Given the description of an element on the screen output the (x, y) to click on. 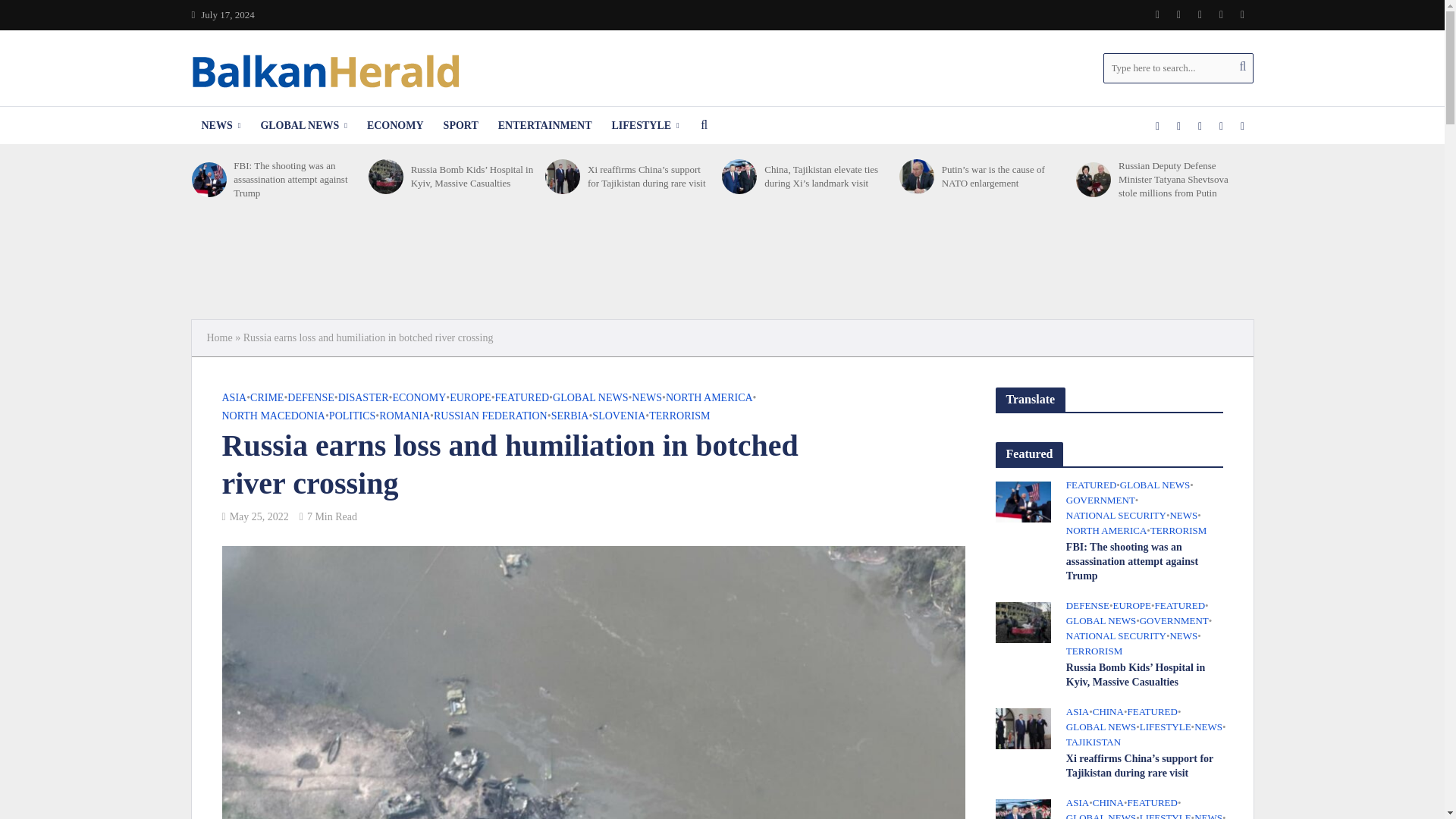
NEWS (220, 125)
ENTERTAINMENT (544, 125)
LIFESTYLE (645, 125)
FBI: The shooting was an assassination attempt against Trump (207, 179)
GLOBAL NEWS (303, 125)
FBI: The shooting was an assassination attempt against Trump (295, 178)
SPORT (460, 125)
Advertisement (721, 264)
ECONOMY (394, 125)
FBI: The shooting was an assassination attempt against Trump (1021, 500)
